Given the description of an element on the screen output the (x, y) to click on. 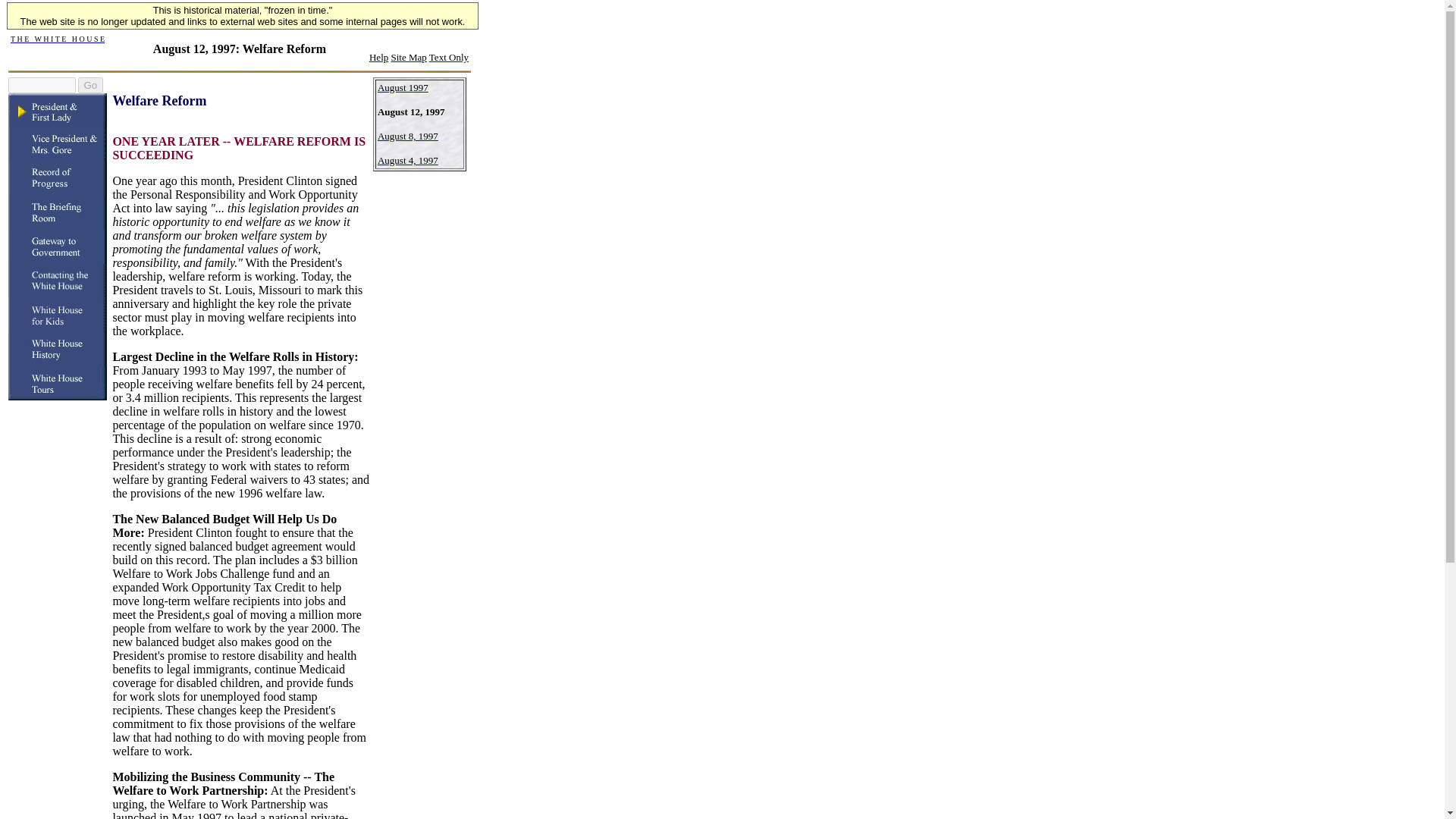
Go (90, 84)
T H E   W H I T E   H O U S E (57, 37)
Site Map (408, 57)
Help (378, 56)
Go (90, 84)
Text Only (448, 57)
August 4, 1997 (407, 159)
August 8, 1997 (407, 134)
August 1997 (402, 86)
